Given the description of an element on the screen output the (x, y) to click on. 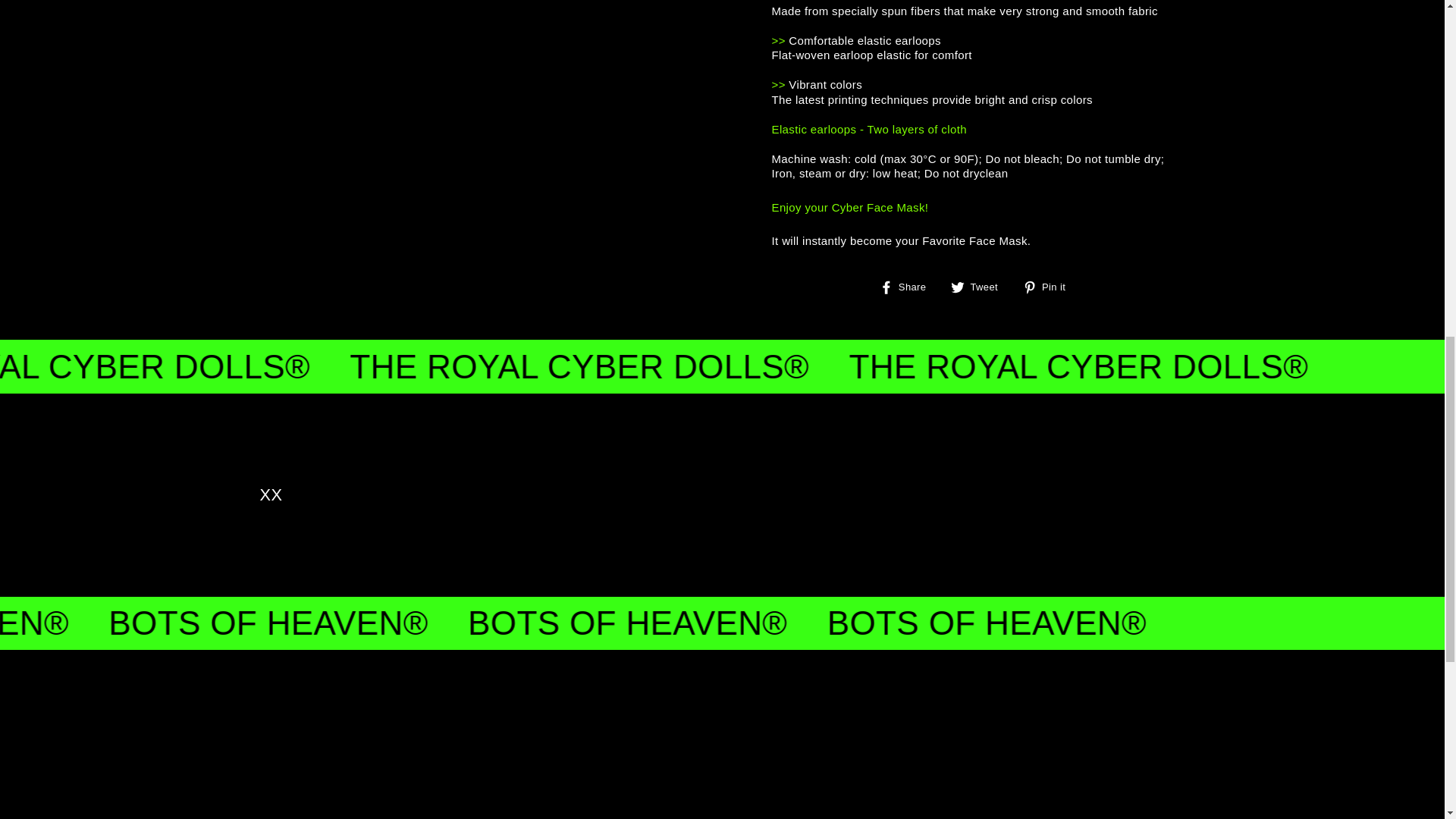
Share on Facebook (908, 287)
Pin on Pinterest (1050, 287)
Tweet on Twitter (979, 287)
